Given the description of an element on the screen output the (x, y) to click on. 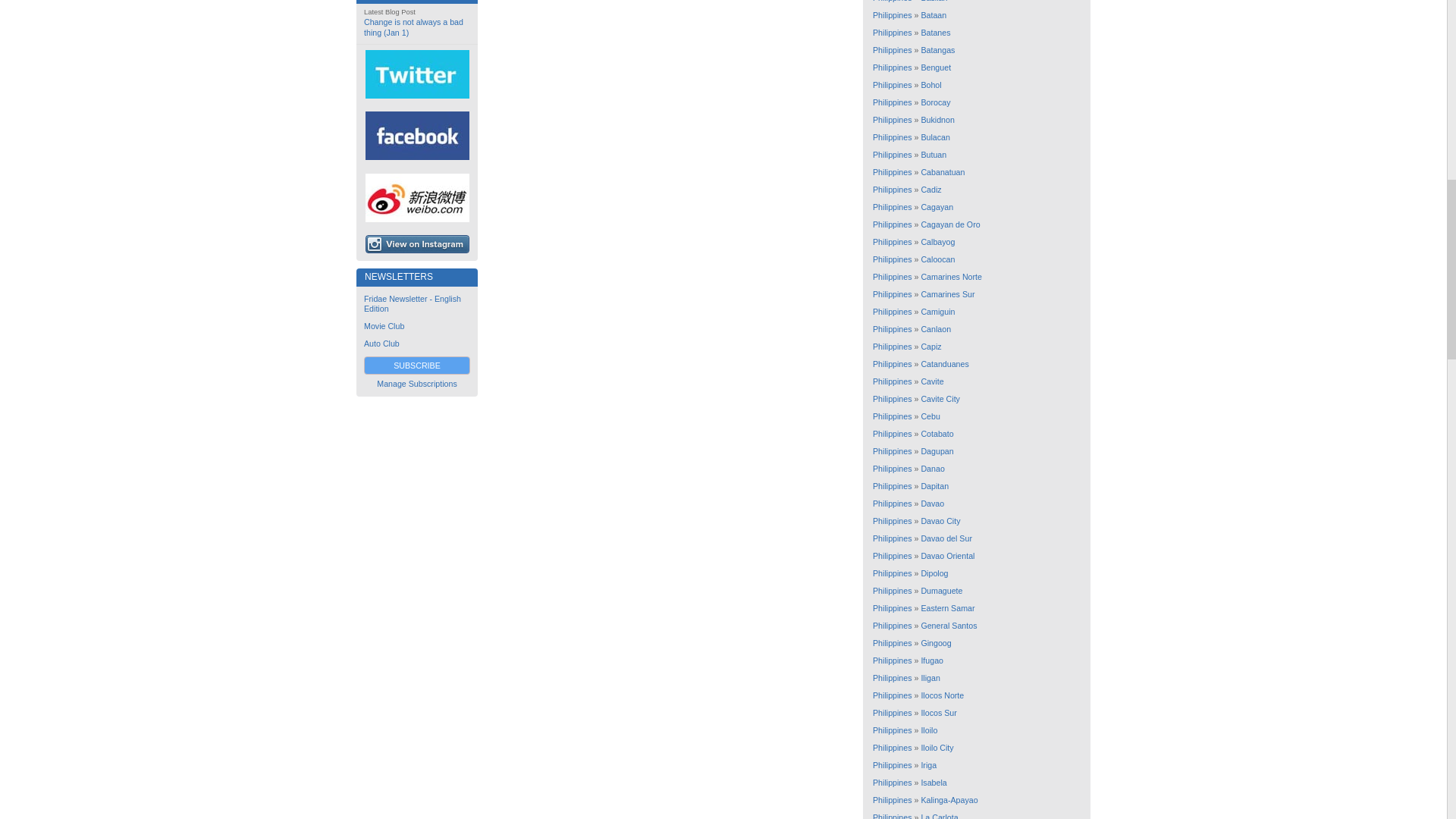
Auto Club (381, 343)
Fridae Newsletter - English Edition (412, 303)
Movie Club (384, 325)
